Given the description of an element on the screen output the (x, y) to click on. 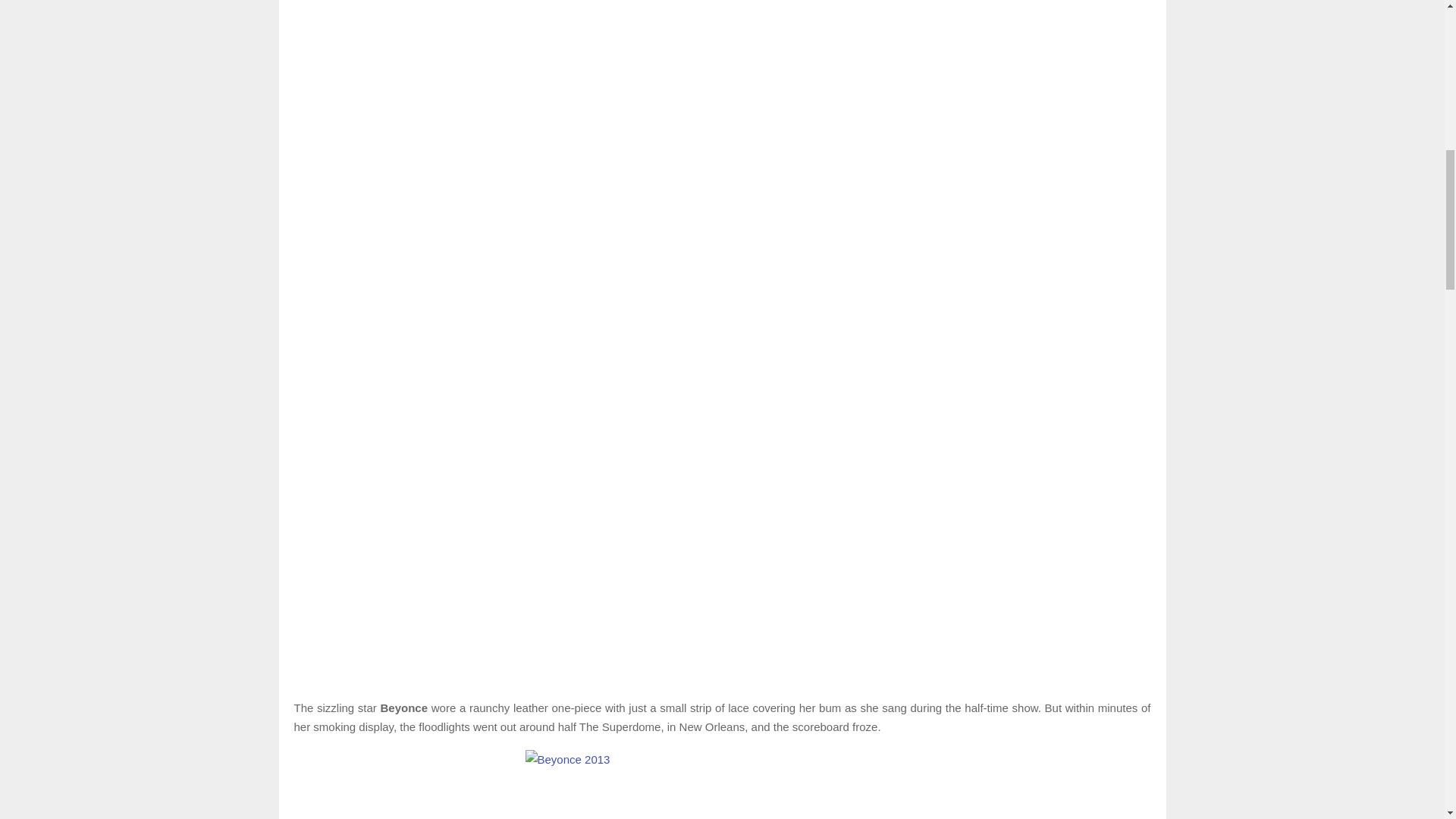
Advertisement (722, 615)
